Given the description of an element on the screen output the (x, y) to click on. 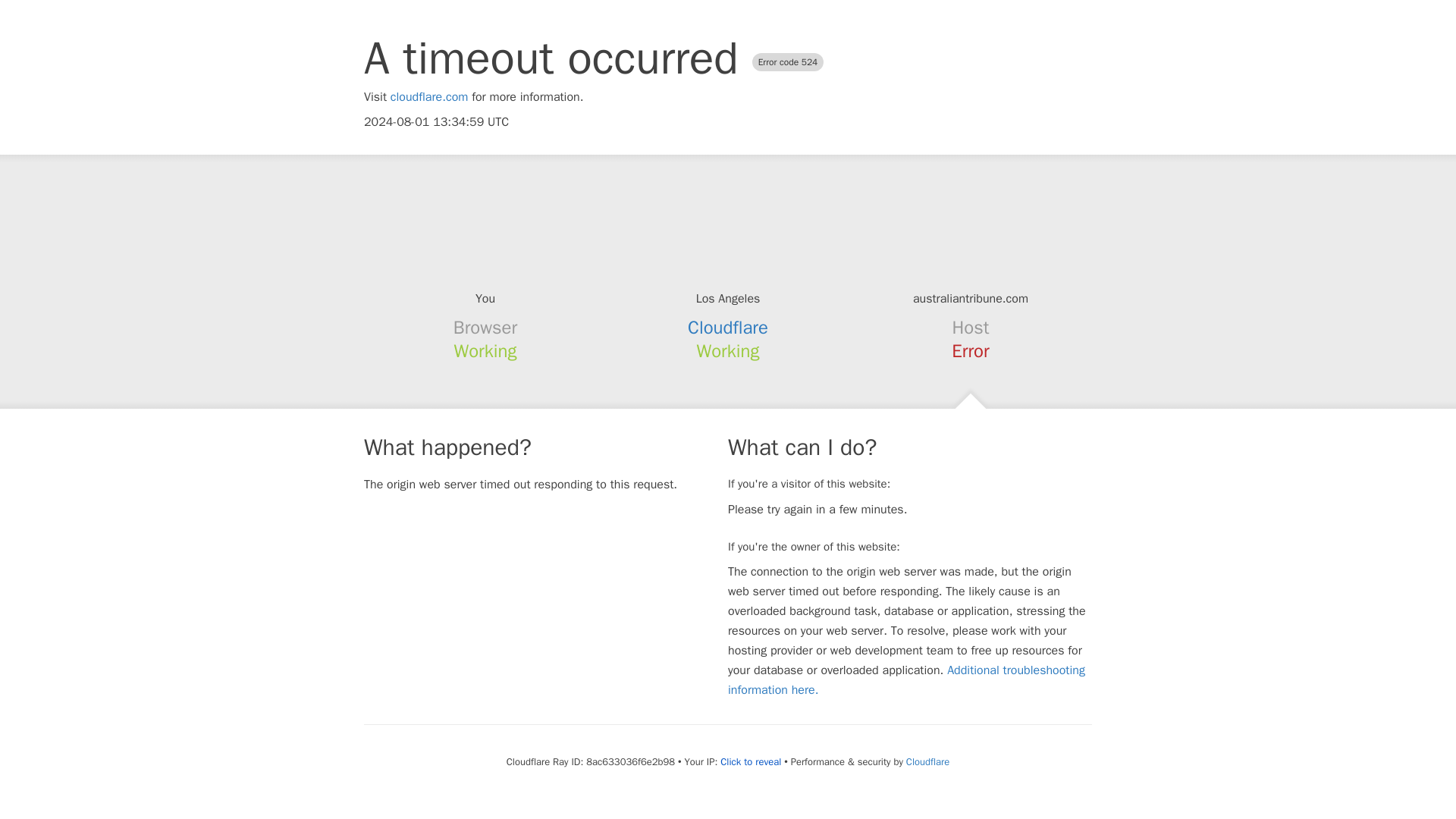
Click to reveal (750, 762)
cloudflare.com (429, 96)
Cloudflare (727, 327)
Cloudflare (927, 761)
Additional troubleshooting information here. (906, 679)
